Given the description of an element on the screen output the (x, y) to click on. 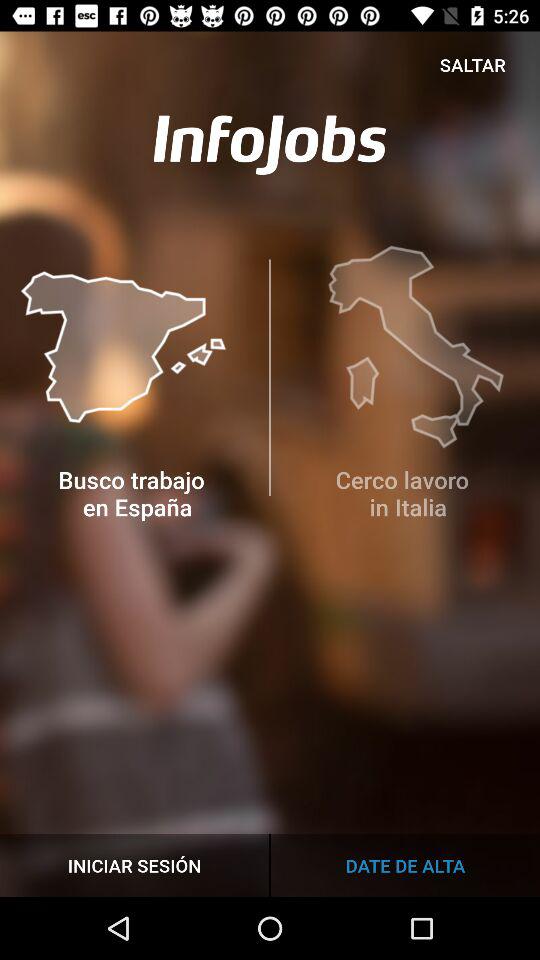
jump to the saltar icon (472, 64)
